Given the description of an element on the screen output the (x, y) to click on. 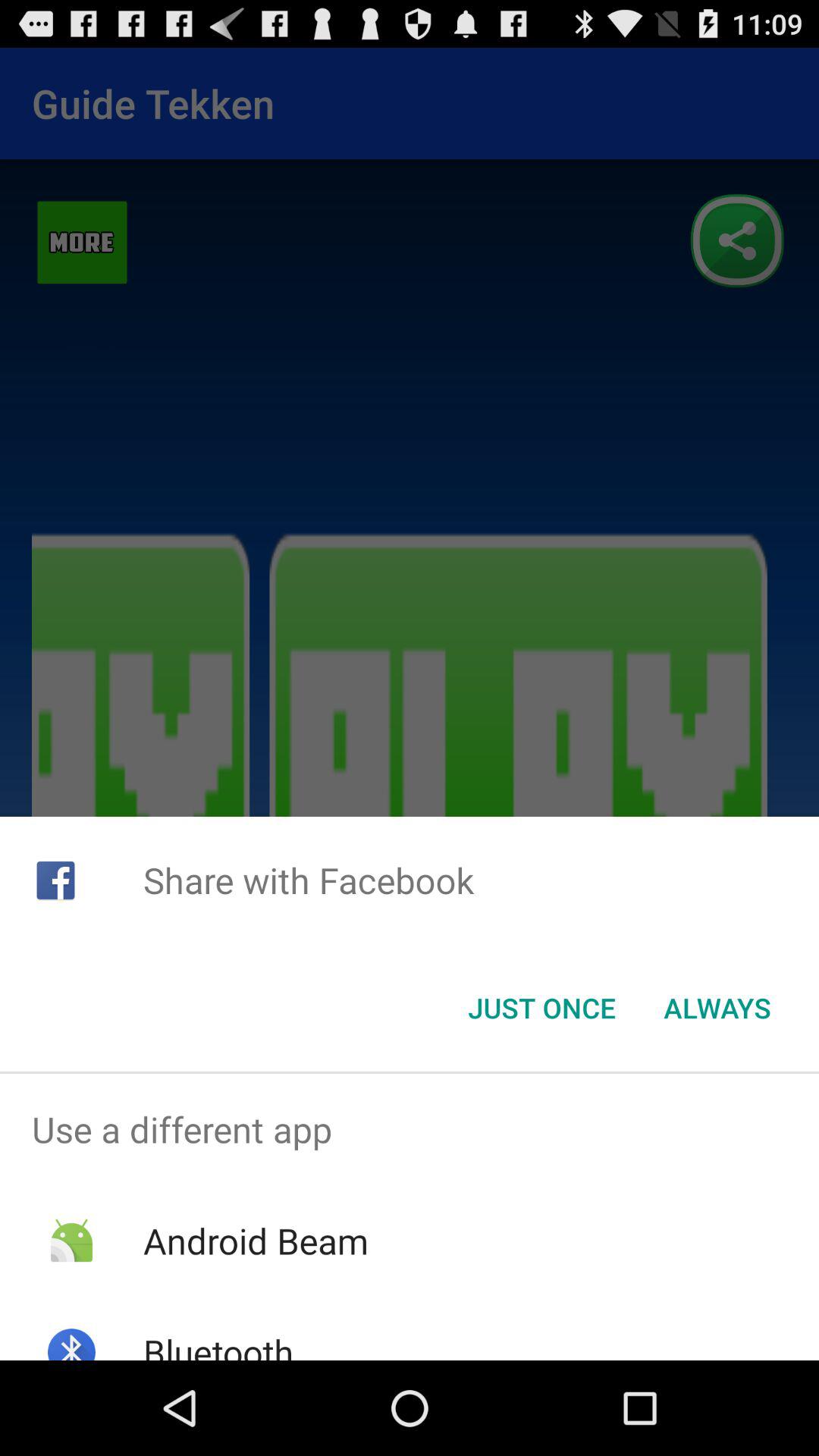
jump until the always (717, 1007)
